Given the description of an element on the screen output the (x, y) to click on. 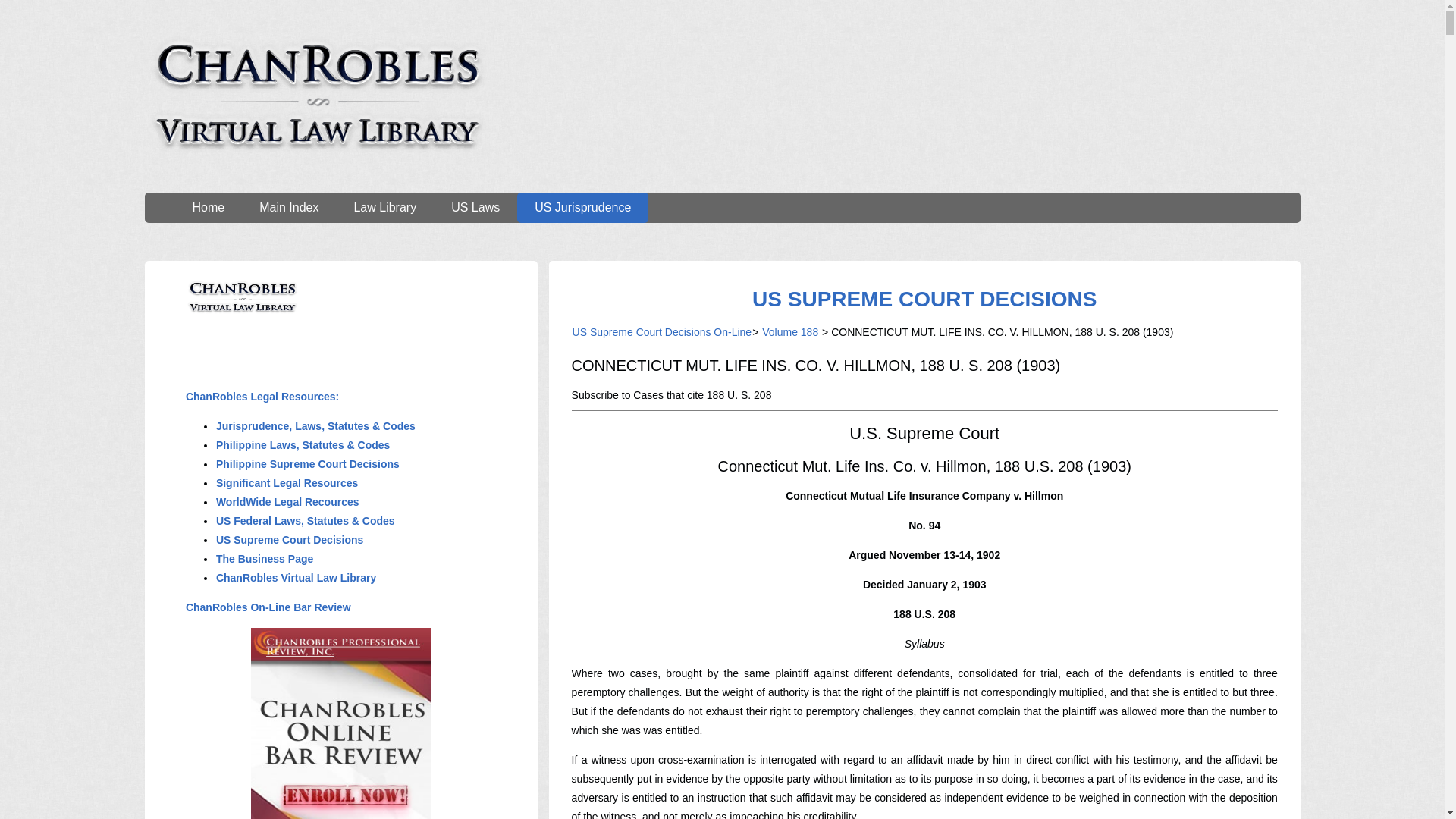
US Jurisprudence (581, 207)
US Laws (474, 207)
ChanRobles Legal Resources: (261, 396)
Significant Legal Resources (287, 482)
Main Index (288, 207)
Home (207, 207)
WorldWide Legal Recources (287, 501)
The Business Page (264, 558)
Law Library (384, 207)
US Supreme Court Decisions On-Line (662, 331)
US Supreme Court Decisions (290, 539)
United States Supreme Court Decisions - On-Line (924, 299)
US SUPREME COURT DECISIONS (924, 299)
Philippine Supreme Court Decisions (307, 463)
ChanRobles On-Line Bar Review (268, 607)
